Given the description of an element on the screen output the (x, y) to click on. 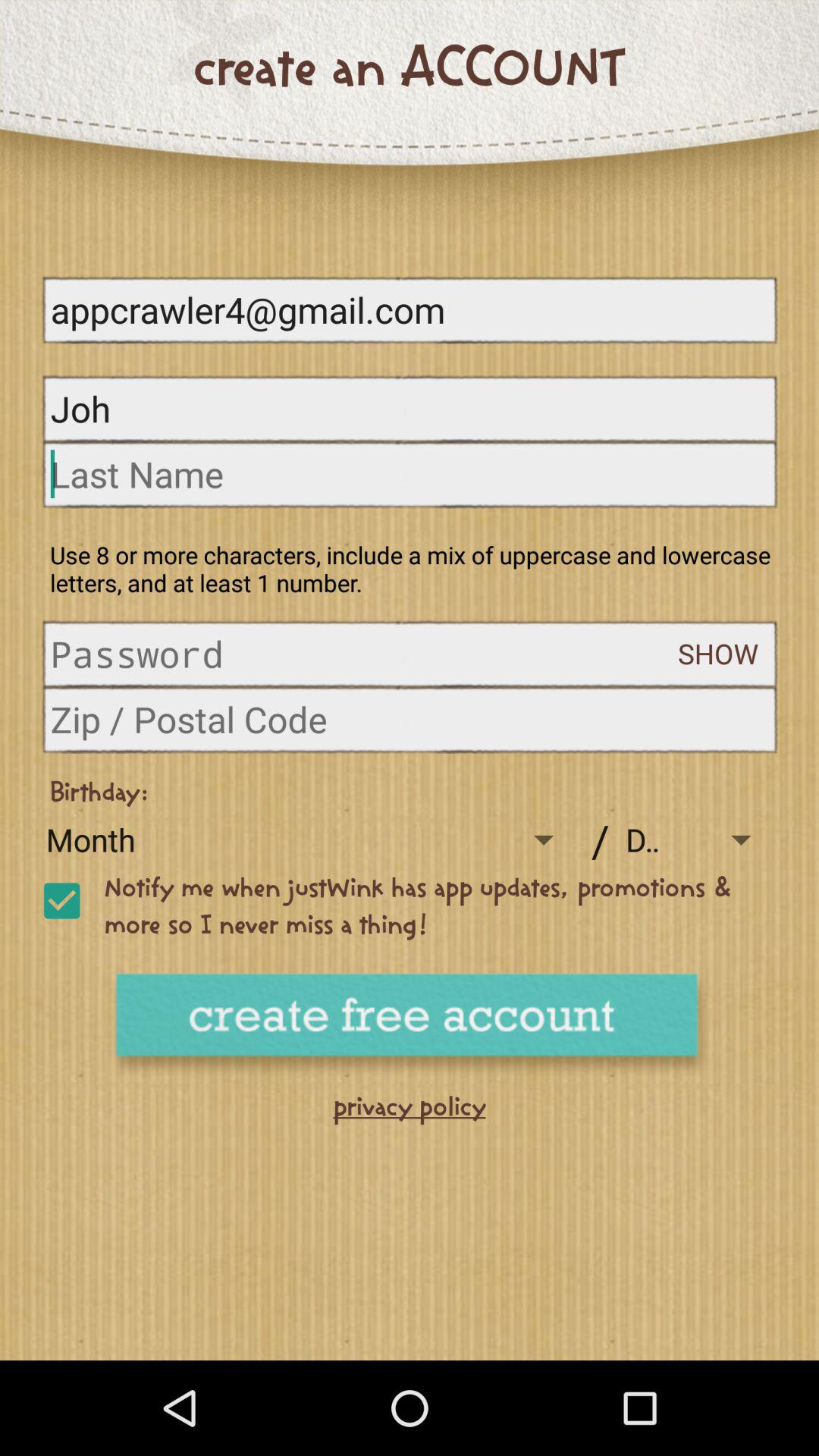
text box (409, 473)
